Given the description of an element on the screen output the (x, y) to click on. 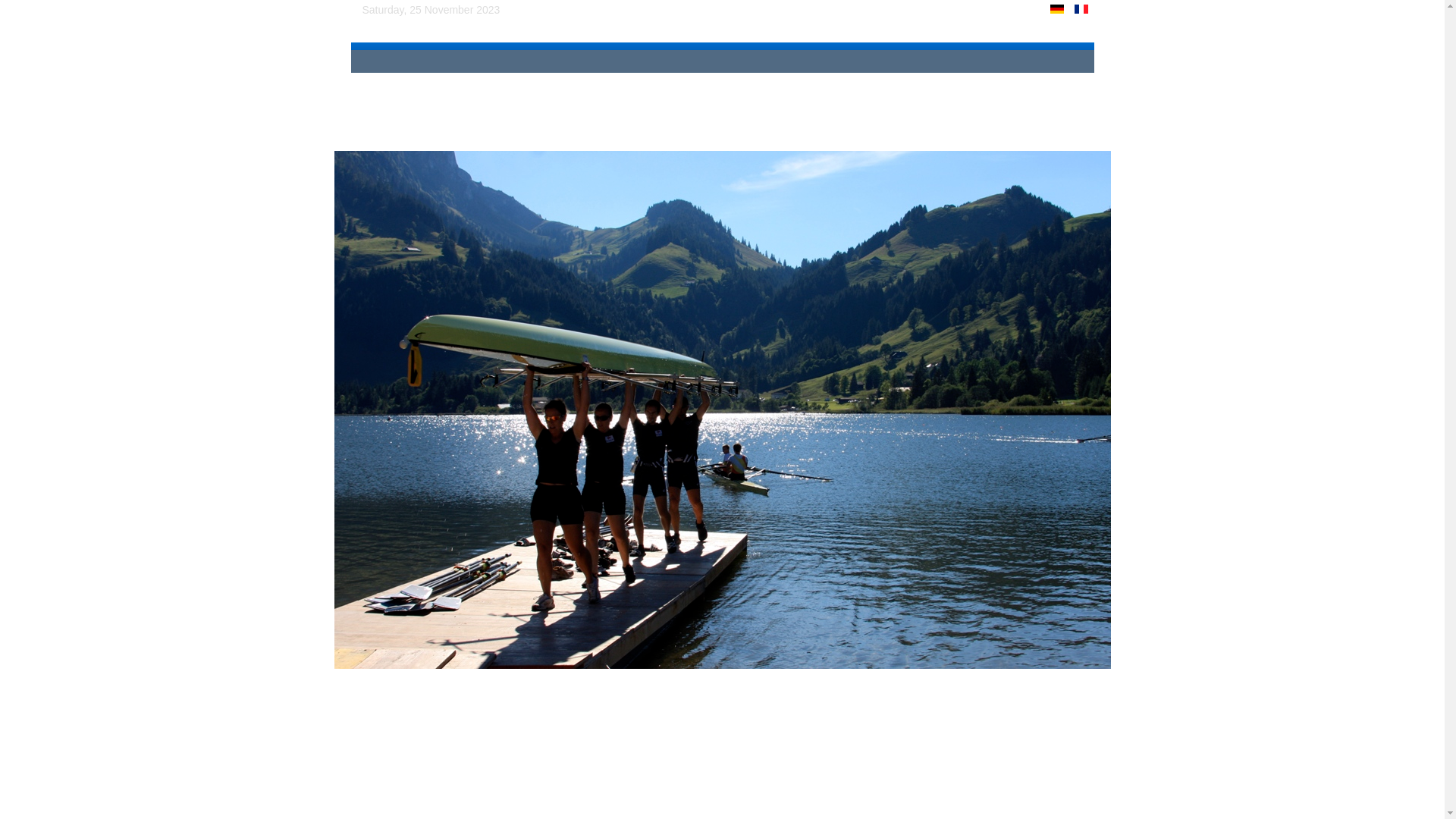
Deutsch Element type: hover (1056, 8)
